Given the description of an element on the screen output the (x, y) to click on. 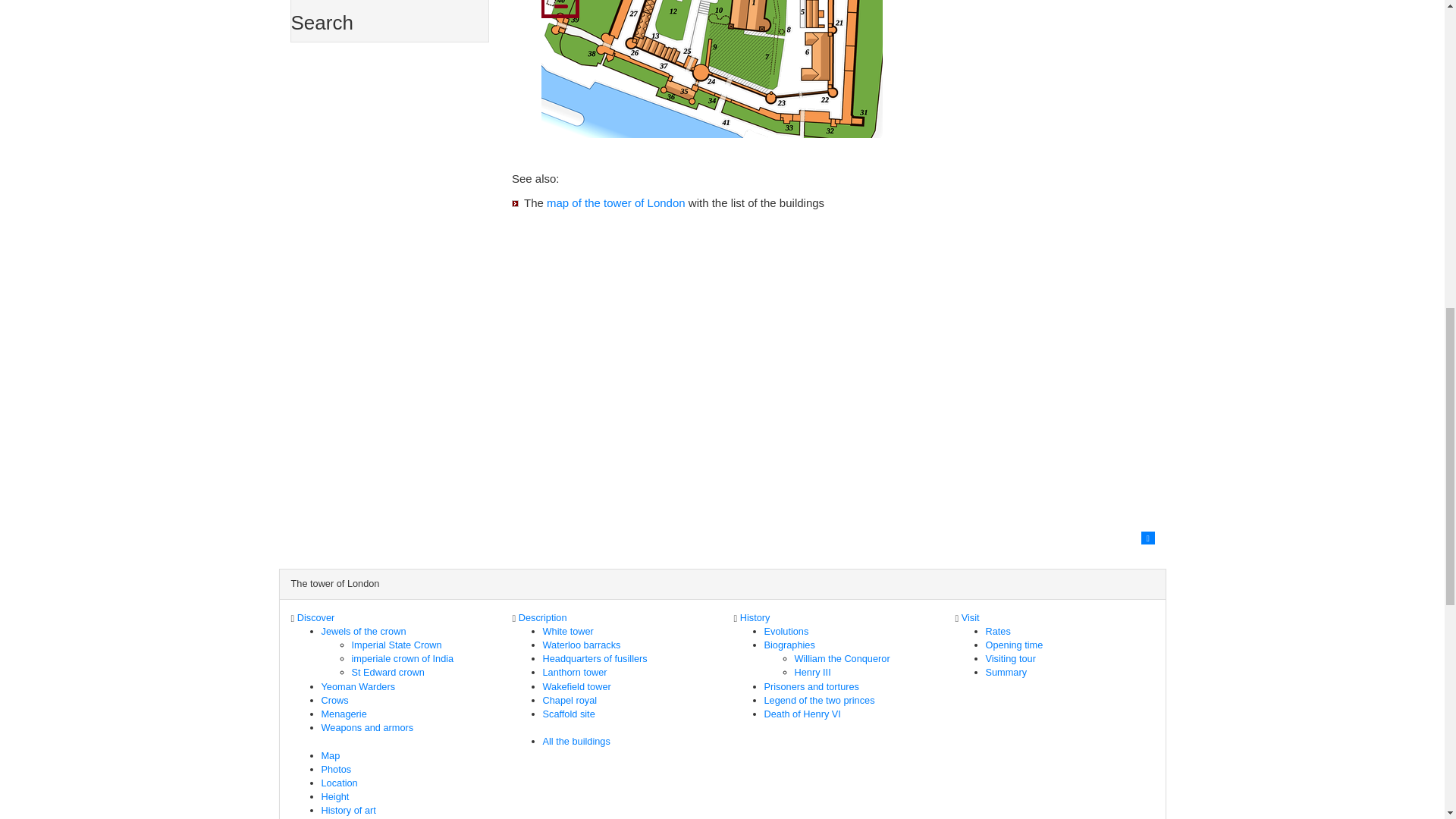
Yeoman Warders (358, 686)
St Edward crown (388, 672)
map of the tower of London (616, 202)
Imperial State Crown (397, 644)
Menagerie (343, 713)
Discover (315, 617)
Crows (335, 699)
Jewels of the crown (363, 631)
imperiale crown of India (403, 658)
